Given the description of an element on the screen output the (x, y) to click on. 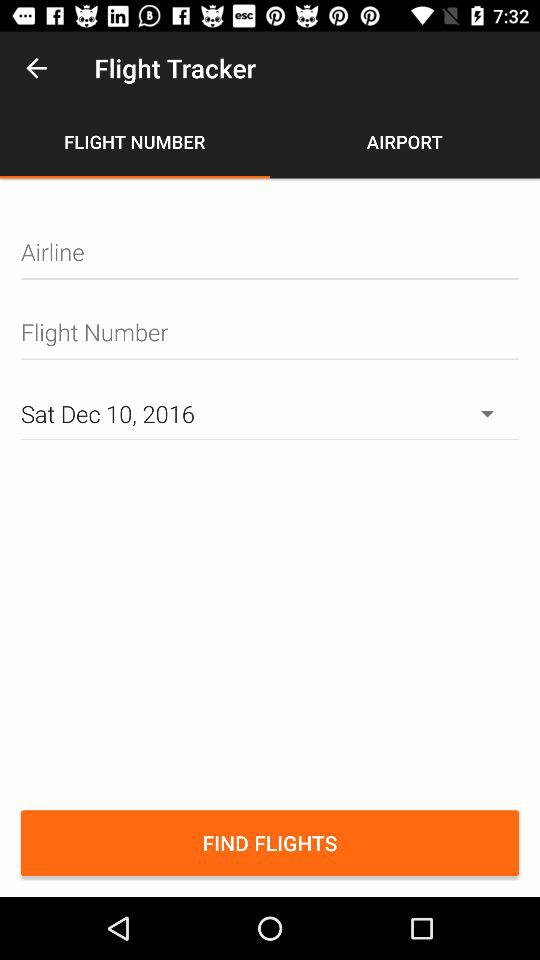
turn on icon to the left of the flight tracker item (36, 68)
